Given the description of an element on the screen output the (x, y) to click on. 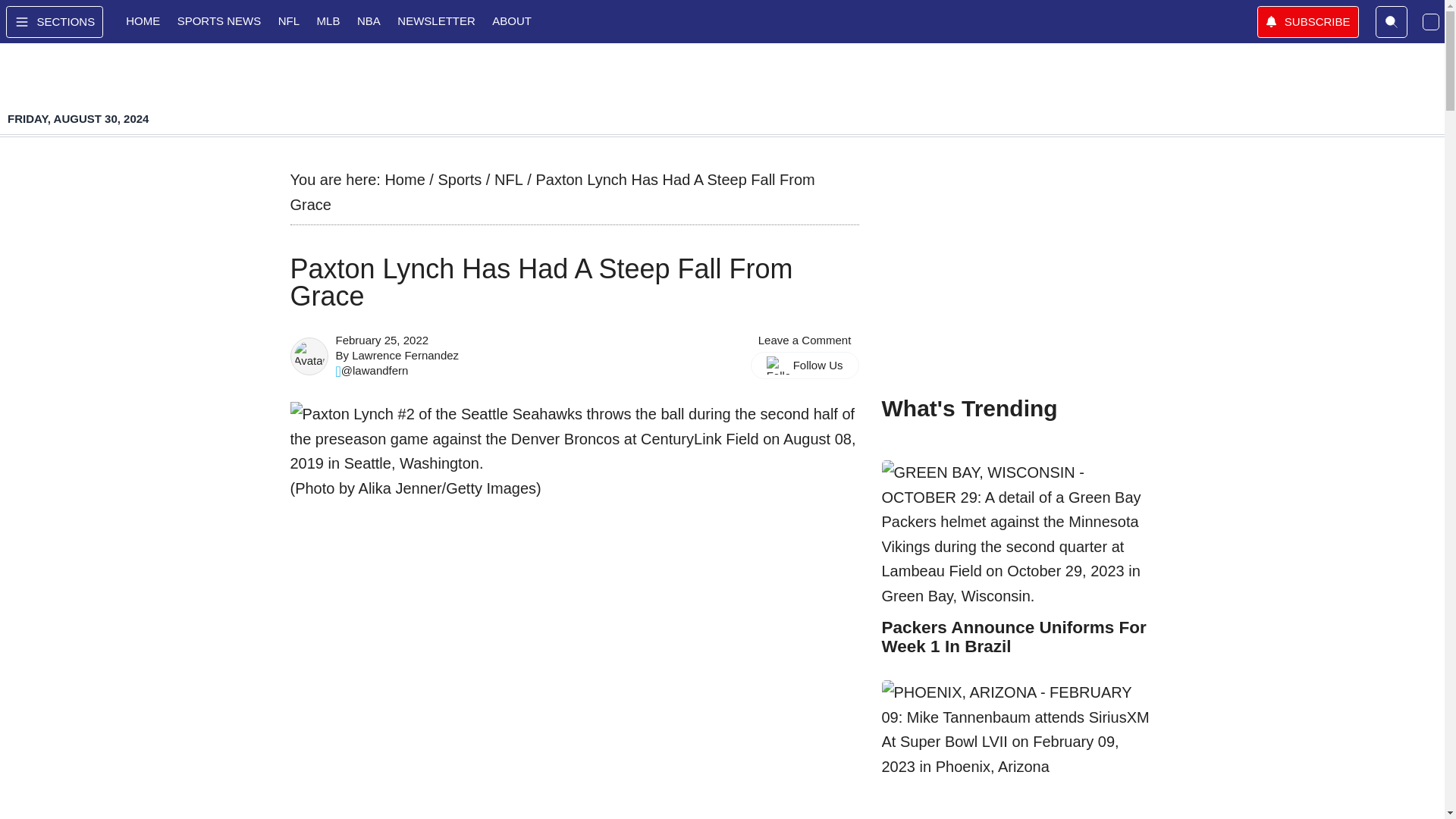
Open Menu (54, 21)
Search (1391, 21)
